Given the description of an element on the screen output the (x, y) to click on. 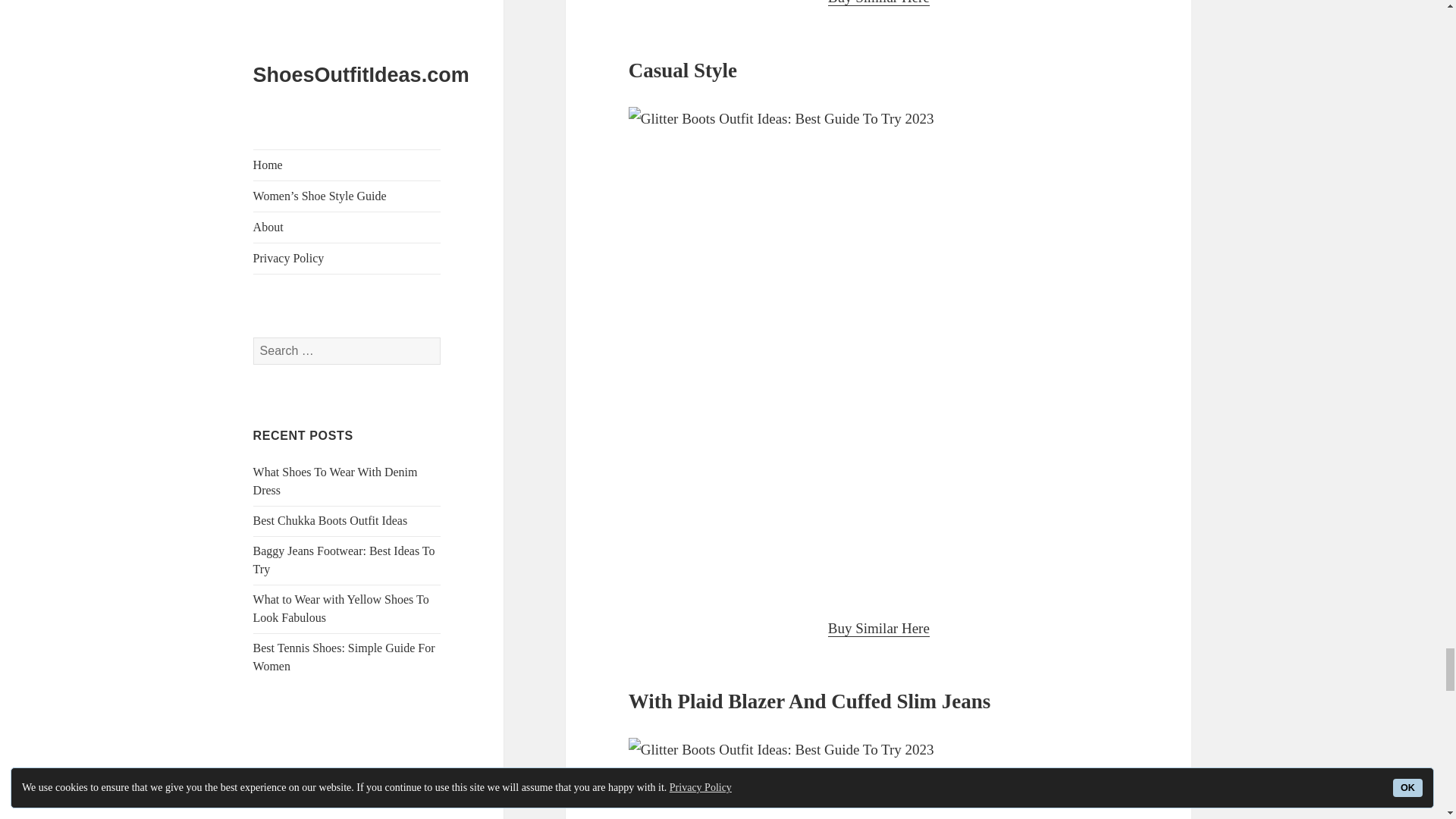
Glitter Boots Outfit Ideas: Best Guide To Try 2023 (878, 778)
Buy Similar Here (879, 628)
Buy Similar Here (879, 2)
